Given the description of an element on the screen output the (x, y) to click on. 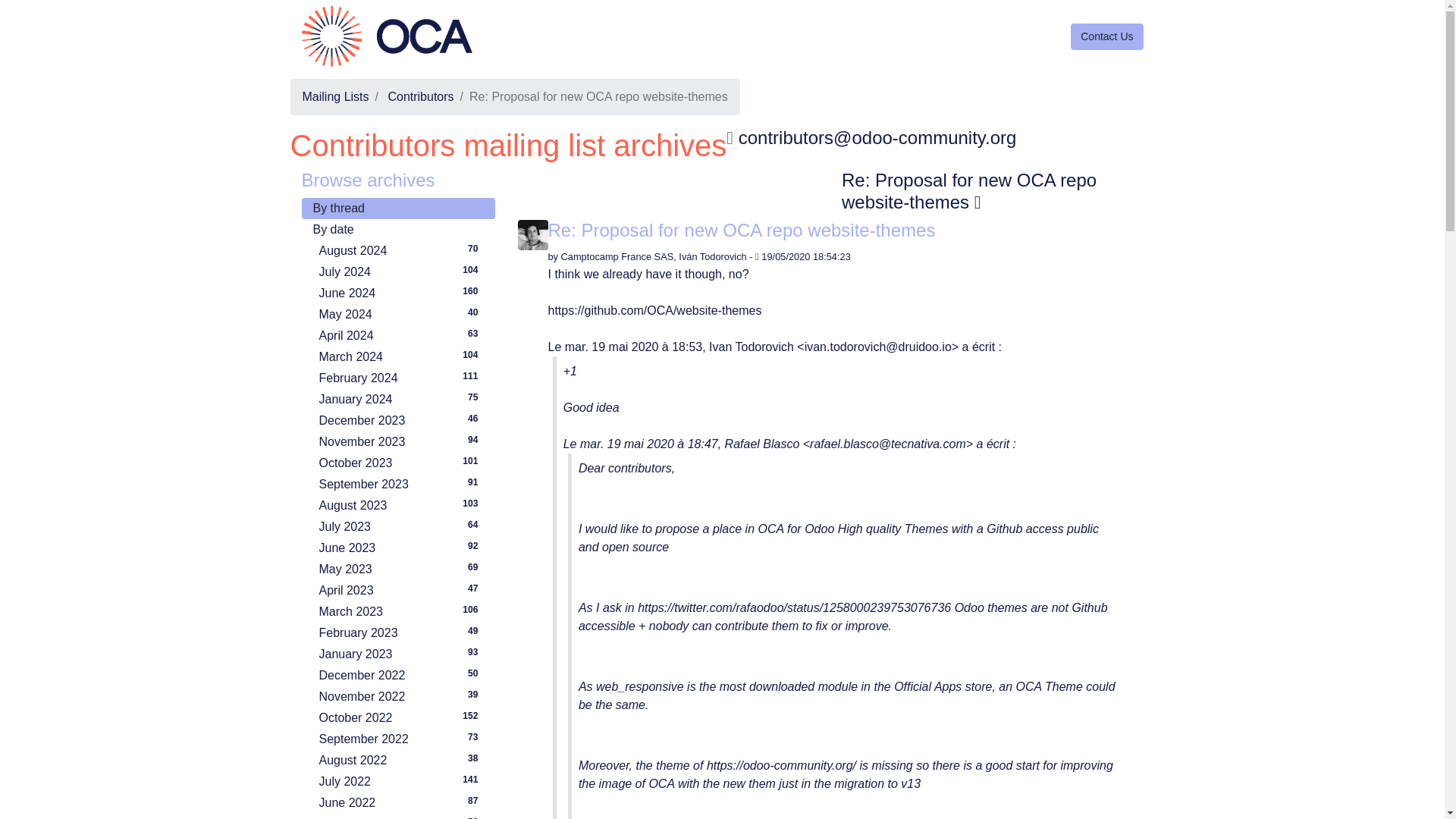
By date (398, 229)
Mailing Lists (401, 250)
Contributors (401, 292)
By thread (401, 314)
Contact Us (334, 96)
